Given the description of an element on the screen output the (x, y) to click on. 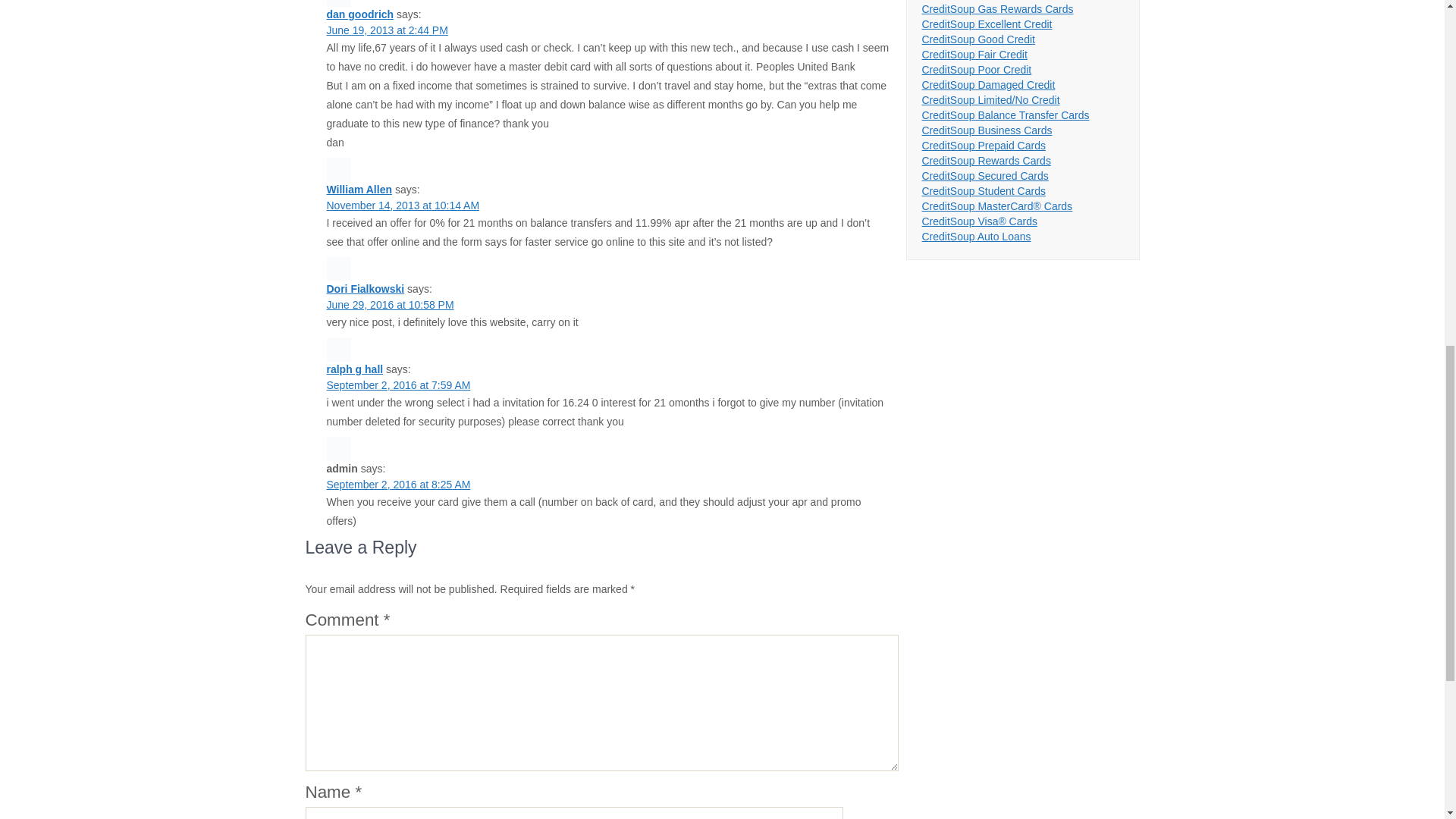
CreditSoup Gas Rewards Cards (997, 9)
September 2, 2016 at 8:25 AM (398, 484)
September 2, 2016 at 7:59 AM (398, 385)
November 14, 2013 at 10:14 AM (402, 205)
June 19, 2013 at 2:44 PM (386, 30)
ralph g hall (354, 369)
William Allen (358, 189)
June 29, 2016 at 10:58 PM (389, 304)
dan goodrich (359, 14)
Dori Fialkowski (365, 288)
